Given the description of an element on the screen output the (x, y) to click on. 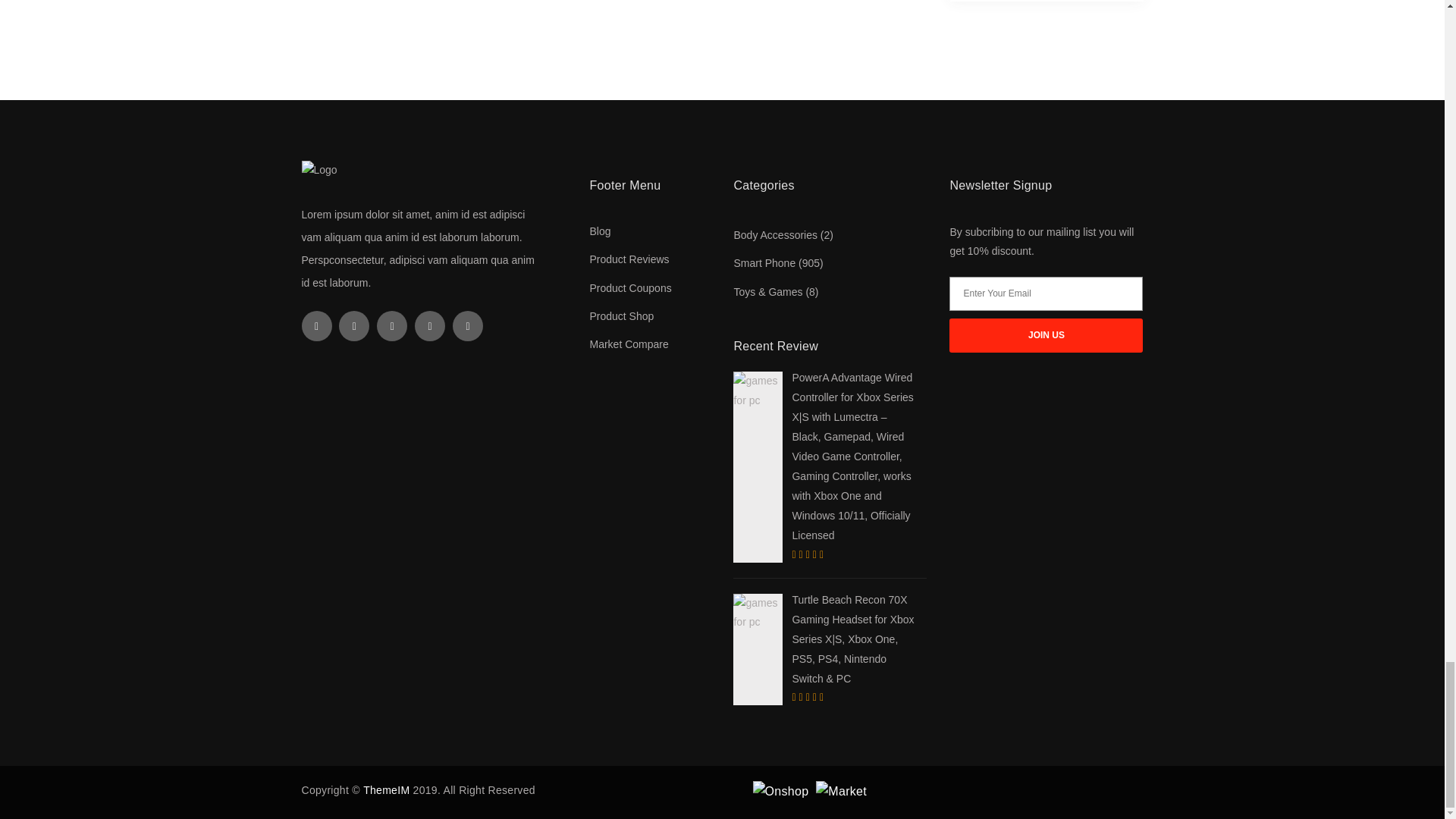
JOIN US (1045, 335)
